Given the description of an element on the screen output the (x, y) to click on. 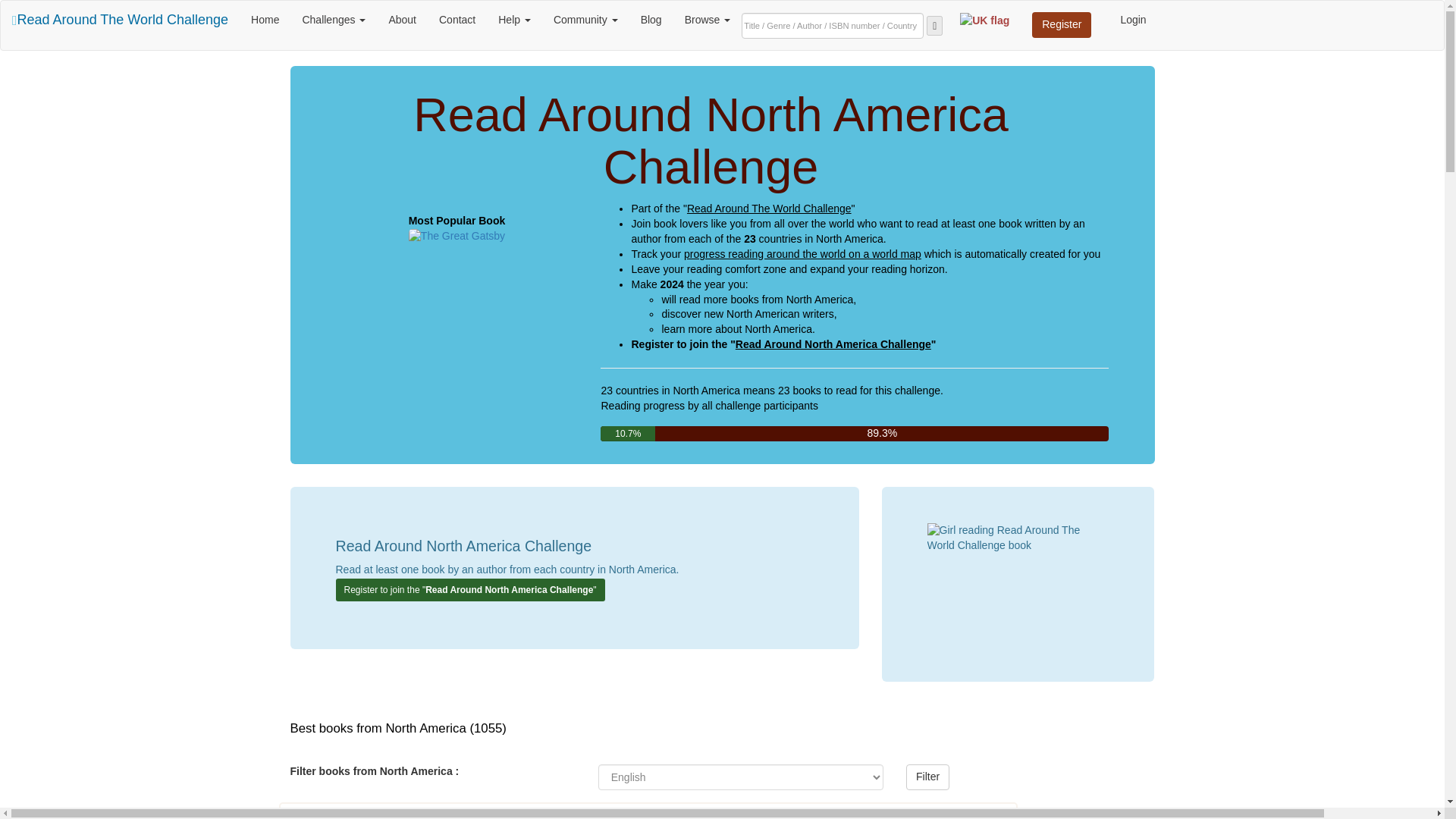
Reading Challenges (120, 19)
Challenges (333, 19)
Help (513, 19)
Browse all challanges (333, 19)
Browse books by country or genre (707, 19)
About (402, 19)
Find all the help you need (513, 19)
Filter (927, 777)
Click to see the most active challenge members (584, 19)
Login (1132, 19)
